Given the description of an element on the screen output the (x, y) to click on. 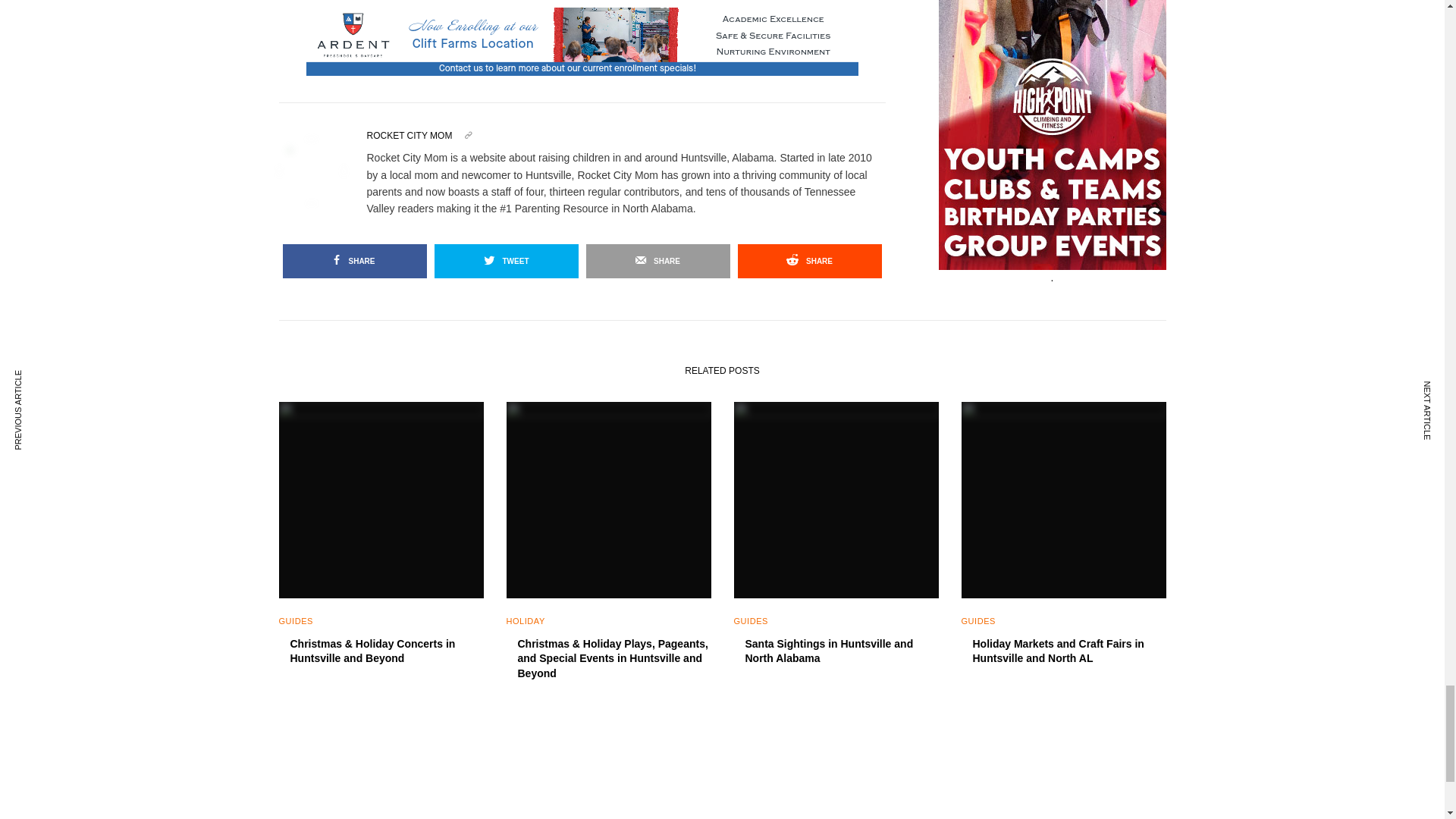
Holiday Markets and Craft Fairs in Huntsville and North AL (1069, 651)
Santa Sightings in Huntsville and North Alabama (840, 651)
